Given the description of an element on the screen output the (x, y) to click on. 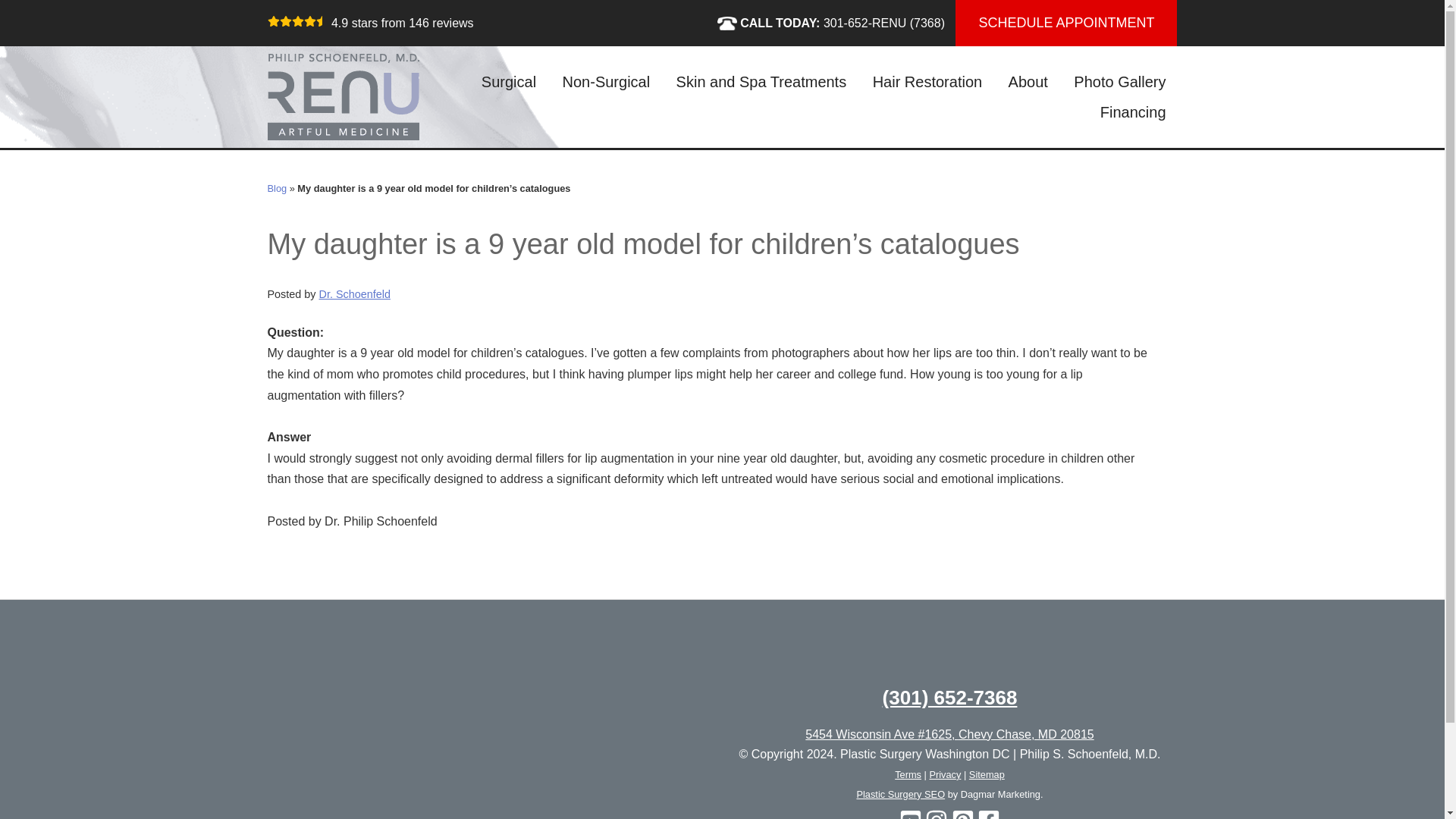
Non-Surgical Procedures (606, 81)
Surgical (508, 81)
Surgical Procedures (508, 81)
Skin and Spa Treatments in Washington DC (762, 81)
Skin and Spa Treatments (762, 81)
Non-Surgical (606, 81)
Plastic Surgery Washington DC (342, 97)
SCHEDULE APPOINTMENT (1065, 22)
